Given the description of an element on the screen output the (x, y) to click on. 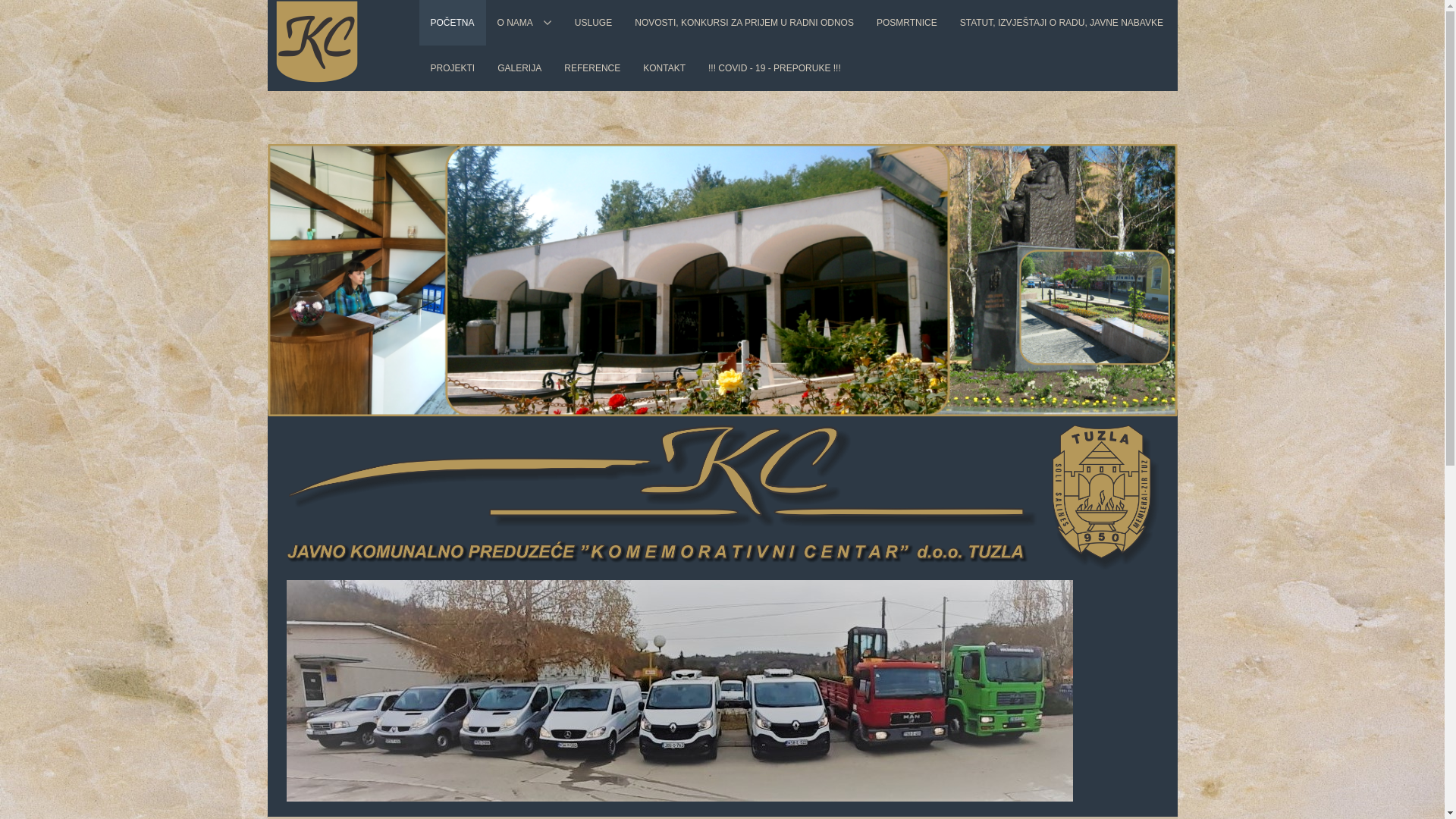
PROJEKTI Element type: text (452, 68)
O NAMA Element type: text (524, 22)
KONTAKT Element type: text (663, 68)
GALERIJA Element type: text (519, 68)
REFERENCE Element type: text (591, 68)
POSMRTNICE Element type: text (906, 22)
NOVOSTI, KONKURSI ZA PRIJEM U RADNI ODNOS Element type: text (744, 22)
!!! COVID - 19 - PREPORUKE !!! Element type: text (774, 68)
USLUGE Element type: text (593, 22)
